Given the description of an element on the screen output the (x, y) to click on. 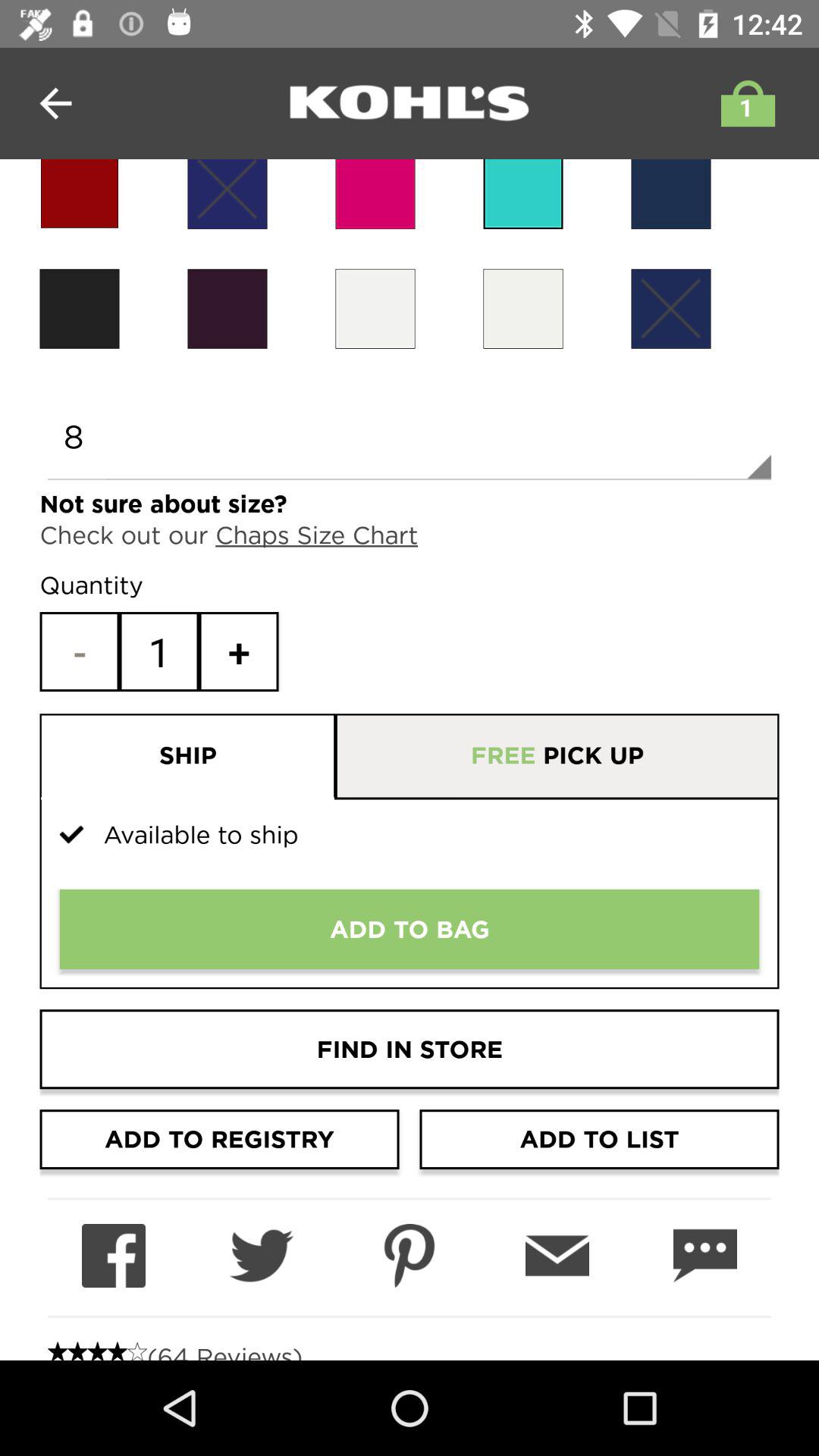
color selection button (375, 308)
